Given the description of an element on the screen output the (x, y) to click on. 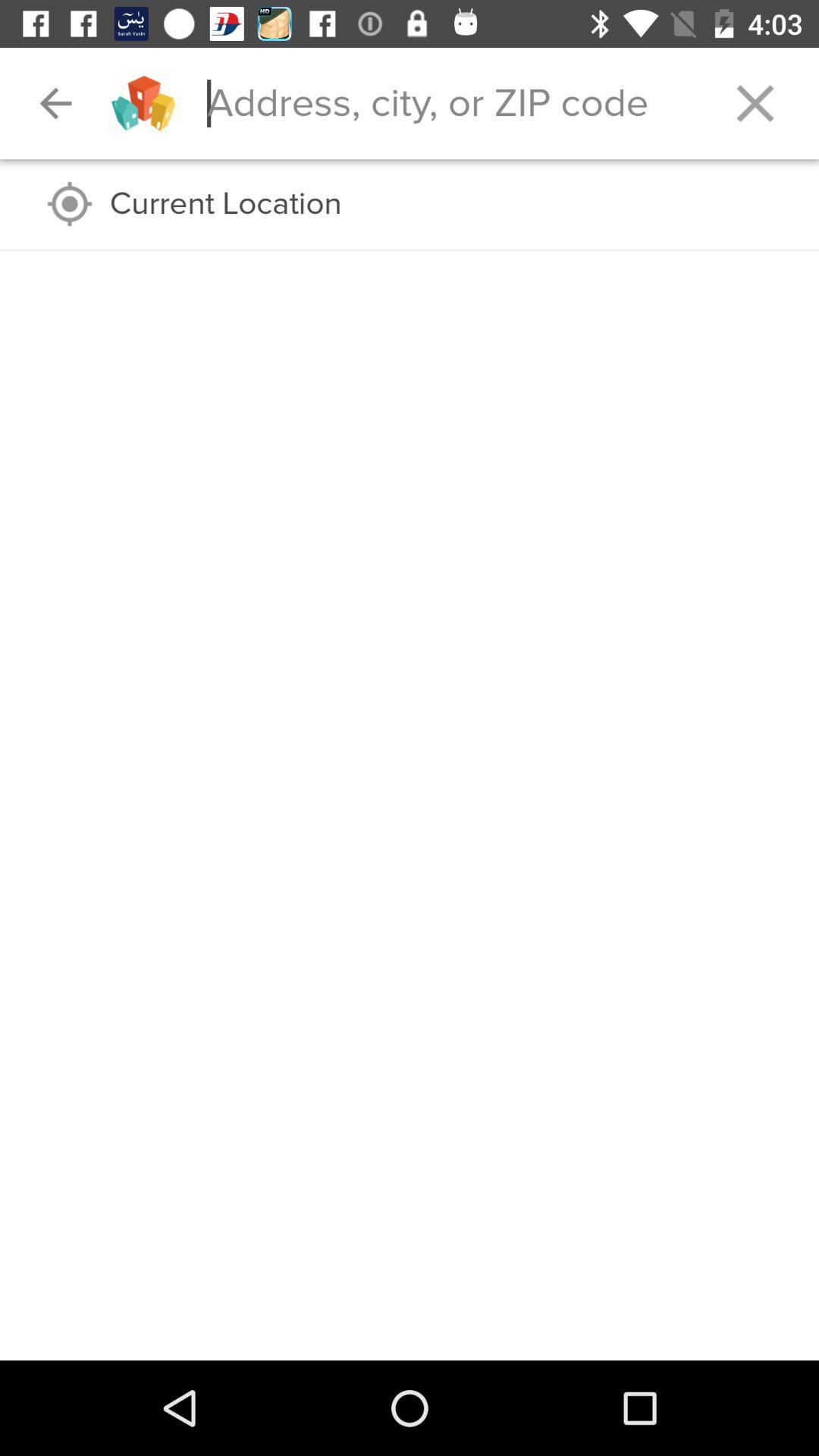
click the item above the current location item (55, 103)
